Given the description of an element on the screen output the (x, y) to click on. 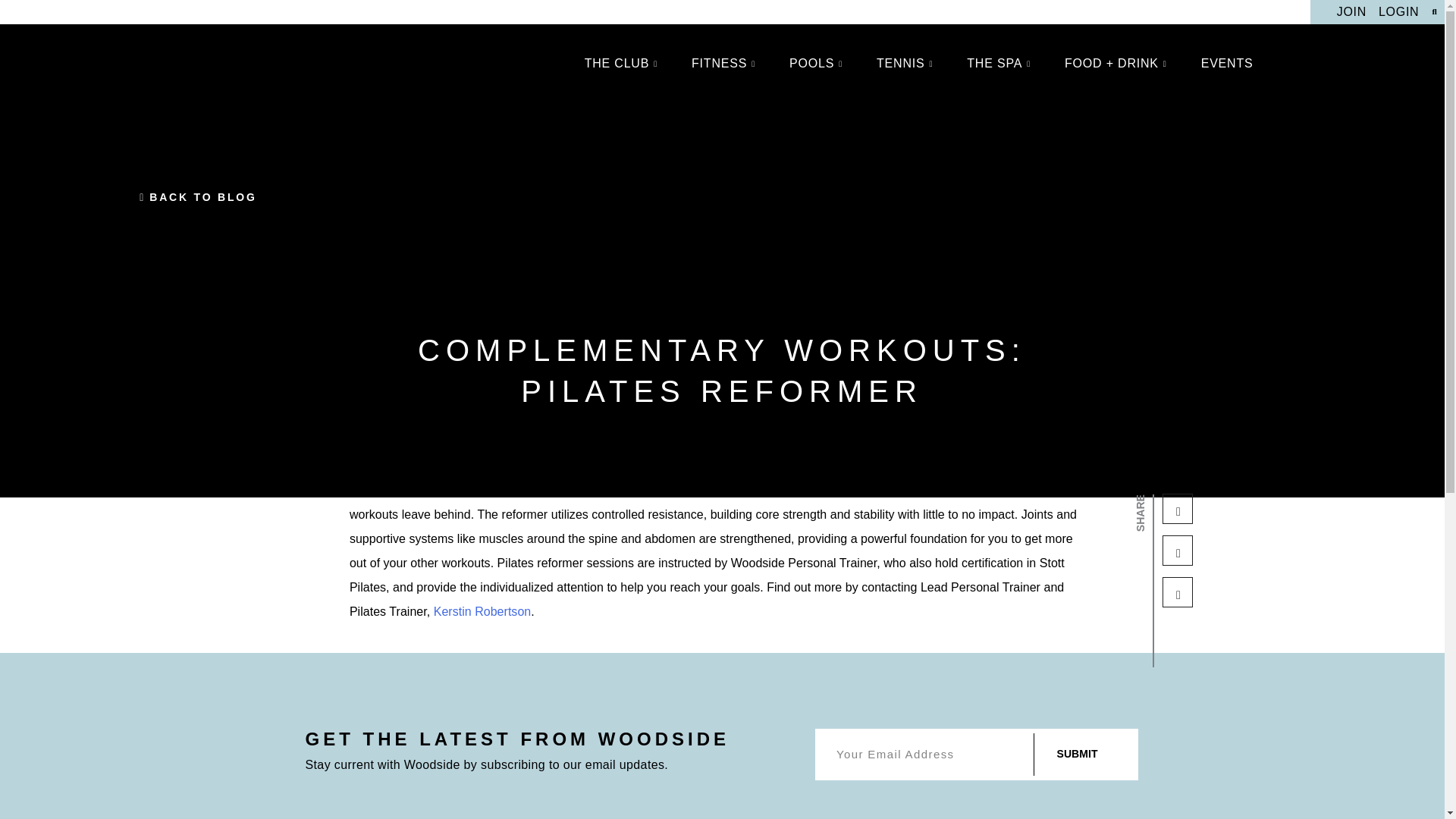
LOGIN (1399, 12)
SUBMIT (1077, 754)
JOIN (1351, 12)
POOLS (817, 63)
FITNESS (724, 63)
THE CLUB (623, 63)
